Given the description of an element on the screen output the (x, y) to click on. 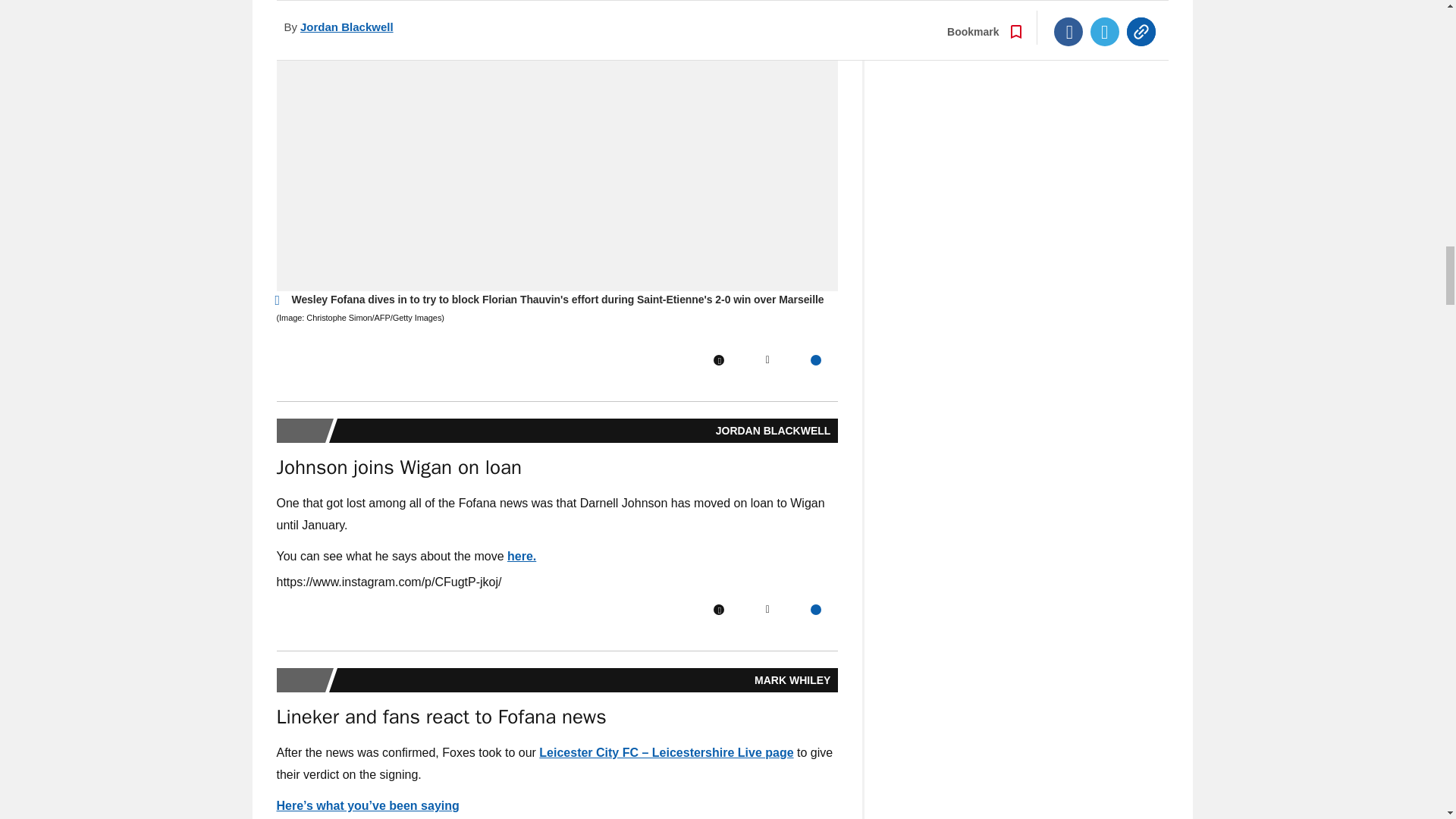
Twitter (767, 609)
Facebook (718, 609)
Twitter (767, 359)
Facebook (718, 359)
